Given the description of an element on the screen output the (x, y) to click on. 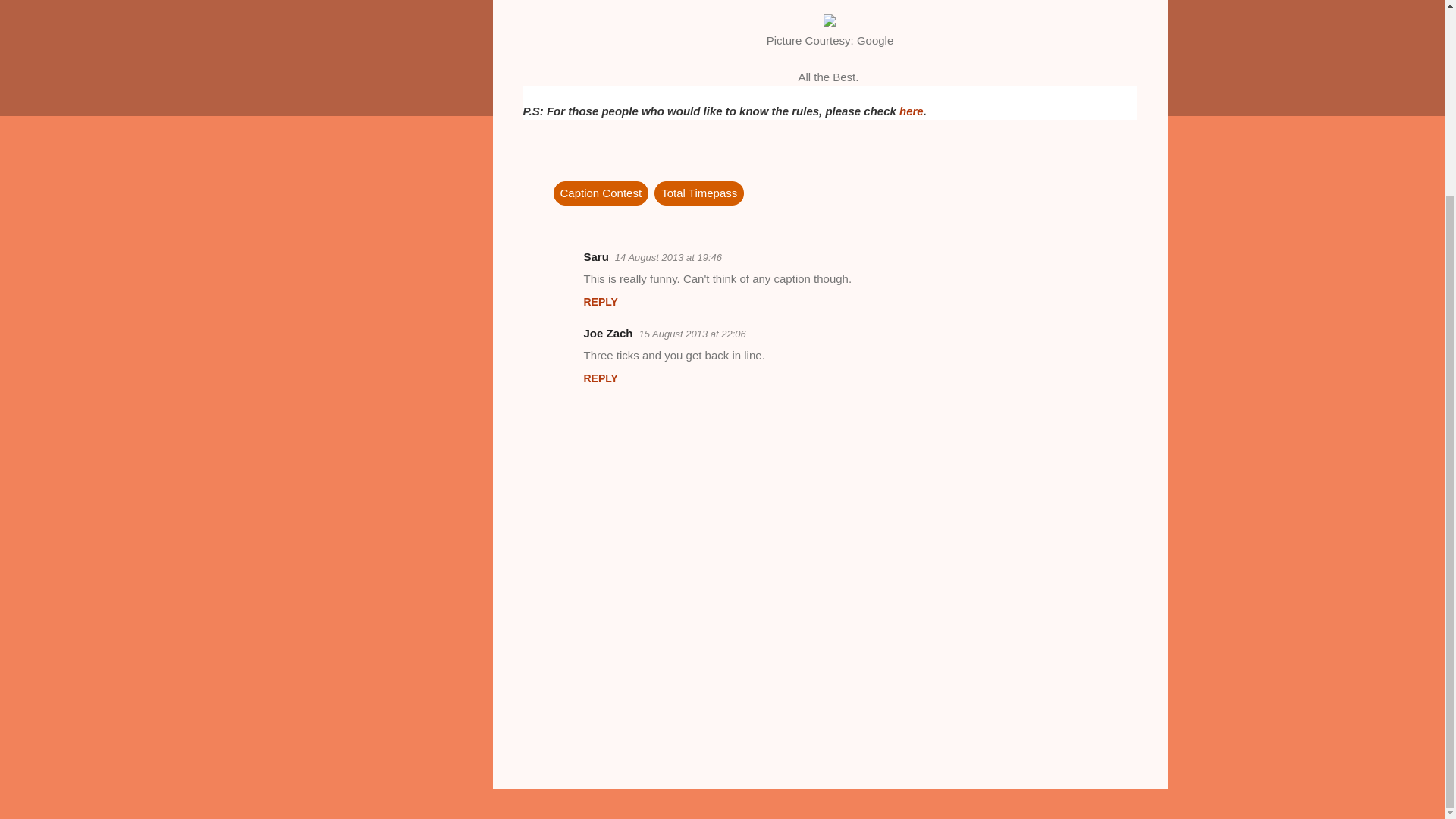
REPLY (600, 301)
Total Timepass (698, 192)
here (911, 110)
15 August 2013 at 22:06 (692, 333)
Email Post (562, 162)
Caption Contest (601, 192)
REPLY (600, 378)
14 August 2013 at 19:46 (668, 256)
